Given the description of an element on the screen output the (x, y) to click on. 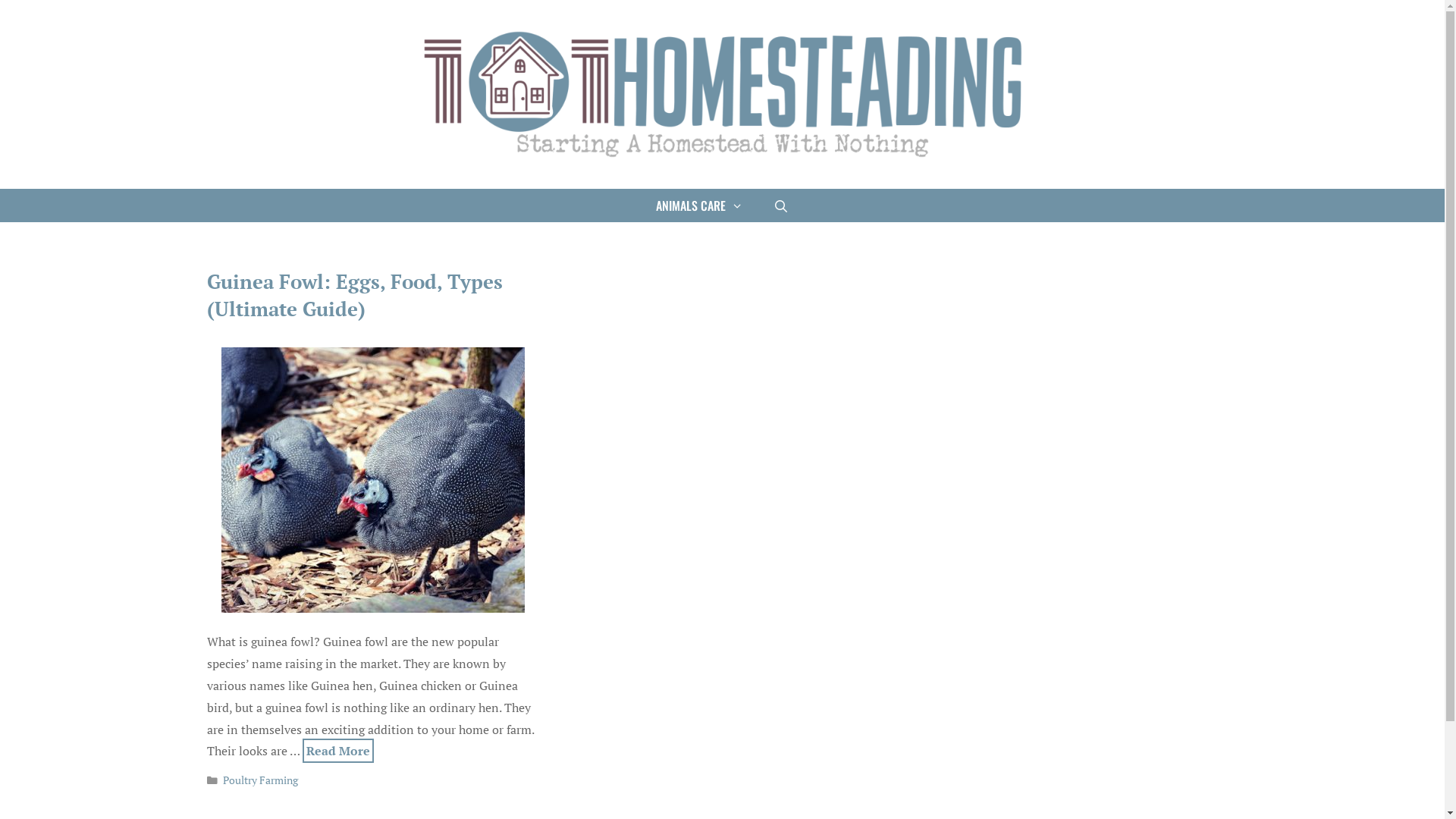
Guinea Fowl: Eggs, Food, Types (Ultimate Guide) Element type: text (354, 294)
101 Homesteading Element type: hover (721, 92)
Read More Element type: text (337, 750)
Poultry Farming Element type: text (260, 780)
ANIMALS CARE Element type: text (699, 205)
101 Homesteading Element type: hover (721, 94)
